Given the description of an element on the screen output the (x, y) to click on. 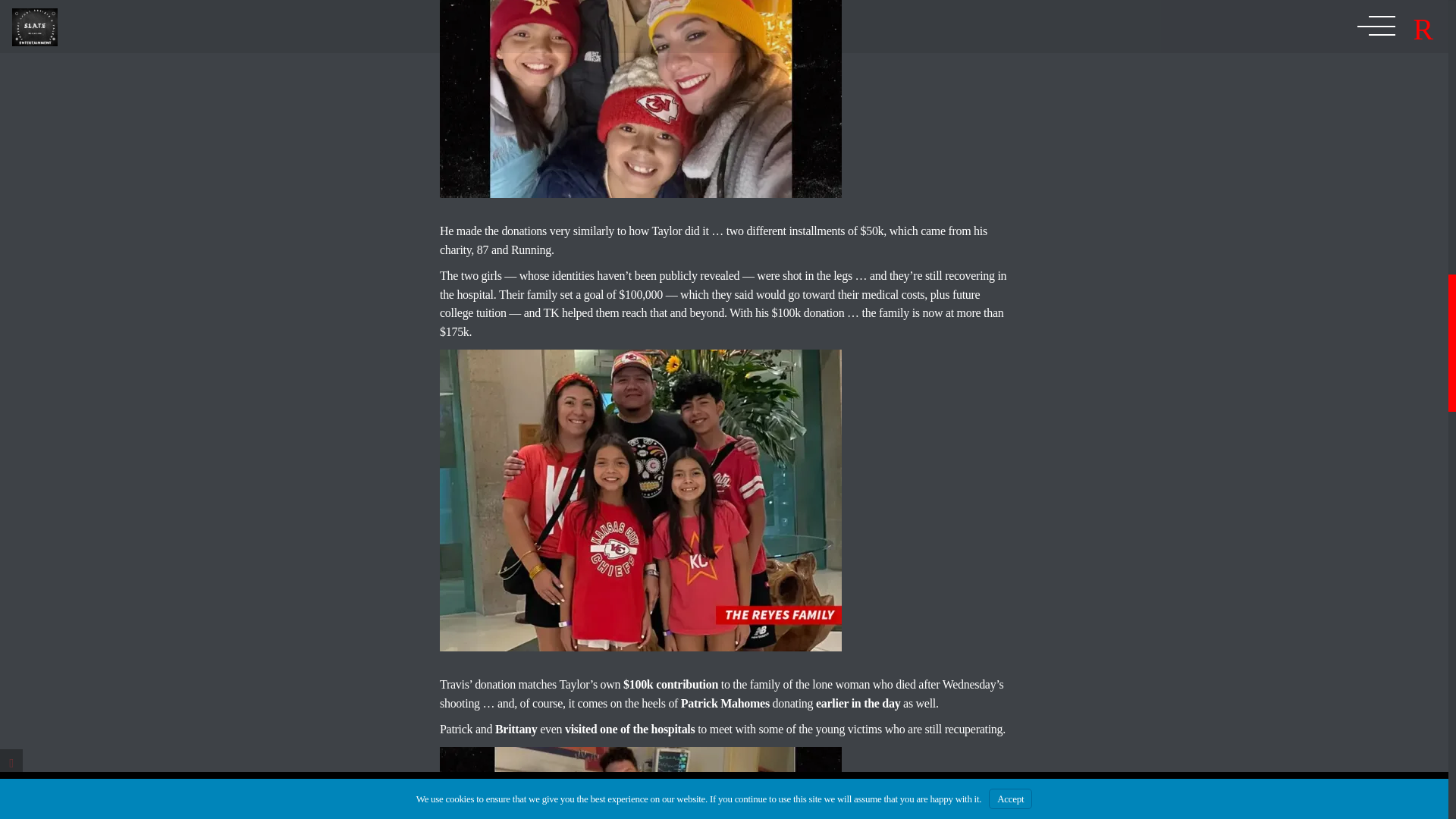
visited one of the hospitals (629, 728)
Brittany (516, 728)
earlier in the day (857, 703)
Patrick Mahomes (725, 703)
